Given the description of an element on the screen output the (x, y) to click on. 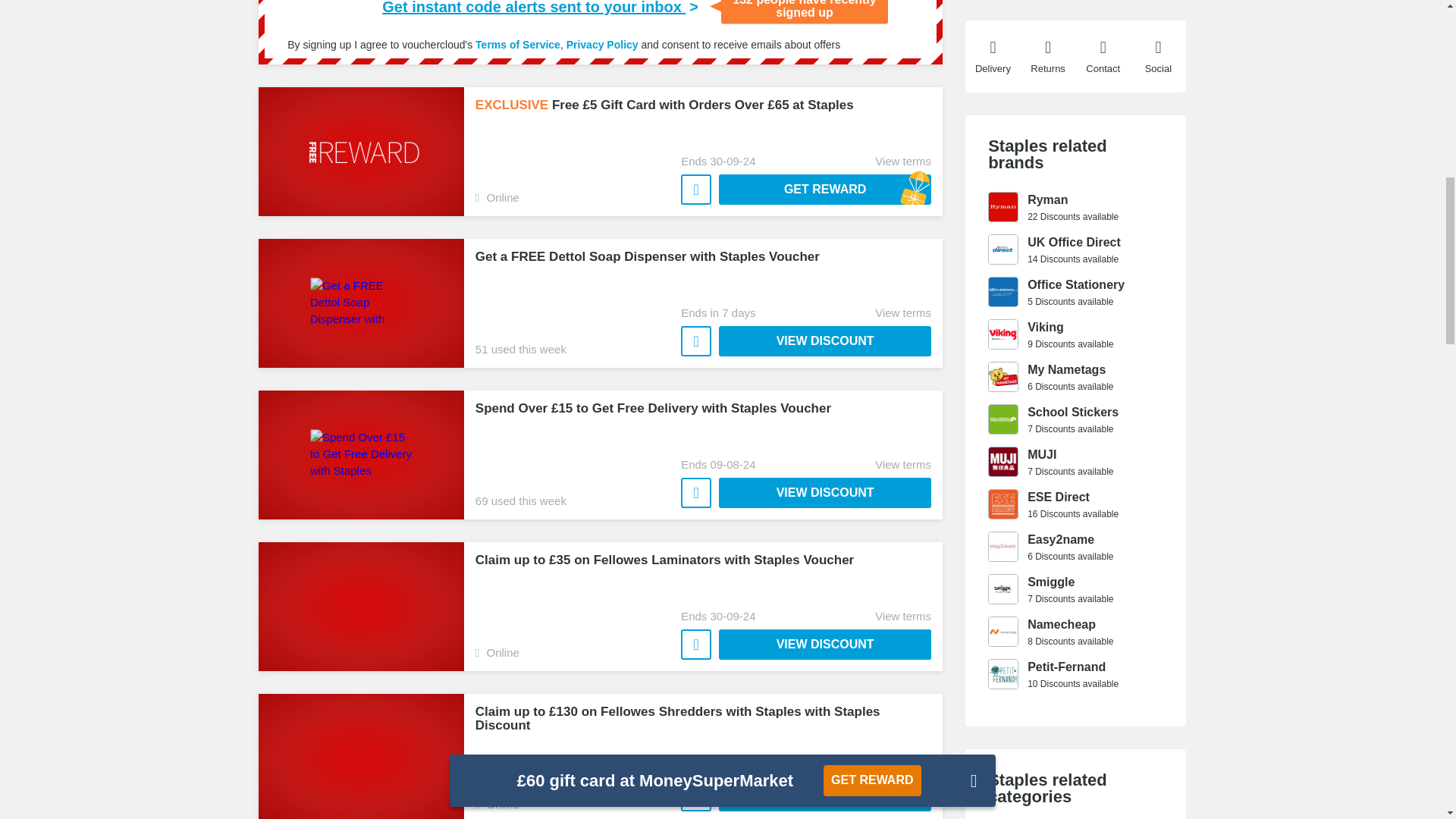
Get a FREE Dettol Soap Dispenser with Staples Voucher (825, 340)
